Given the description of an element on the screen output the (x, y) to click on. 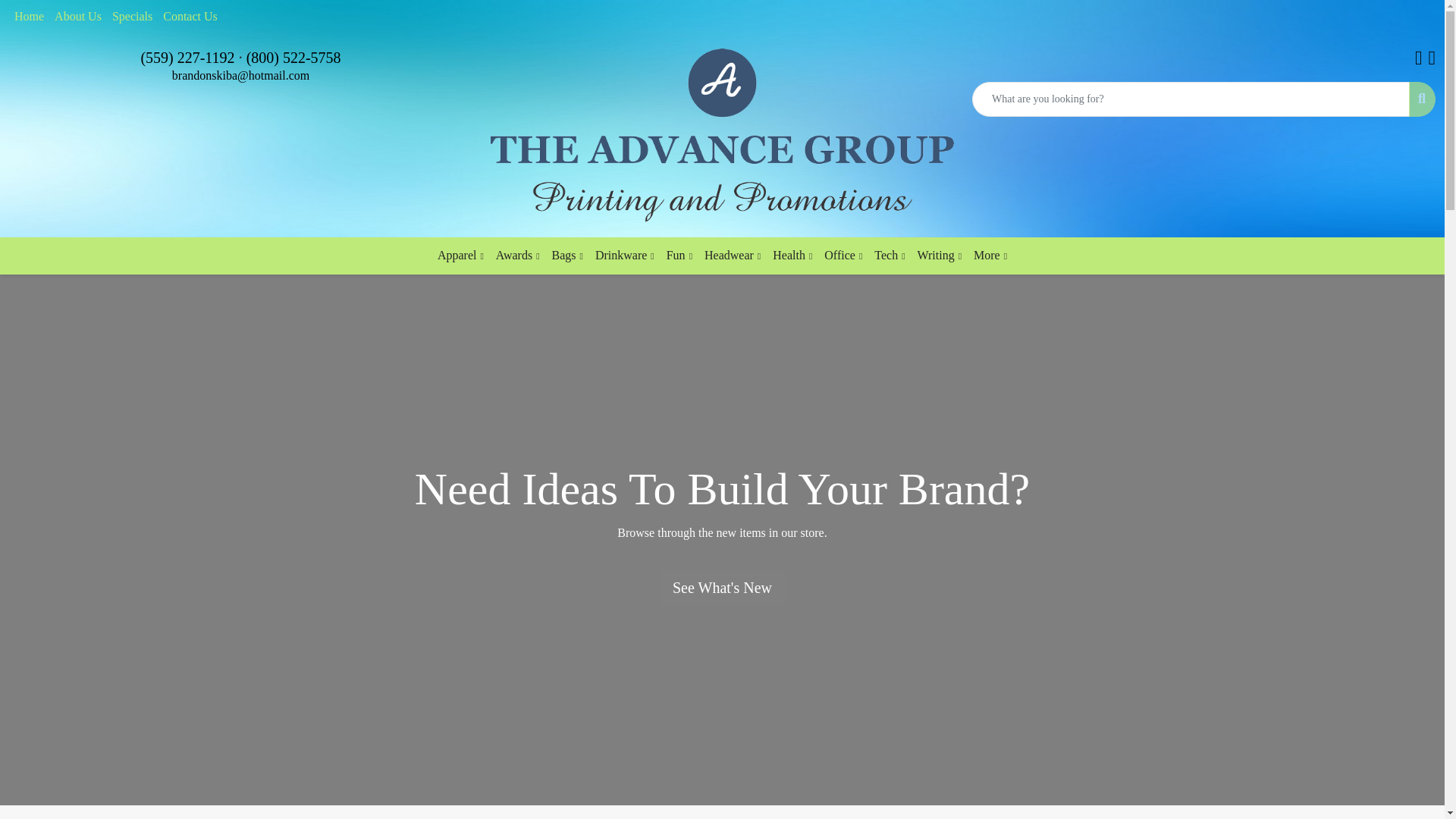
Contact Us (189, 16)
Home (28, 16)
Specials (131, 16)
About Us (77, 16)
Apparel (459, 255)
